Given the description of an element on the screen output the (x, y) to click on. 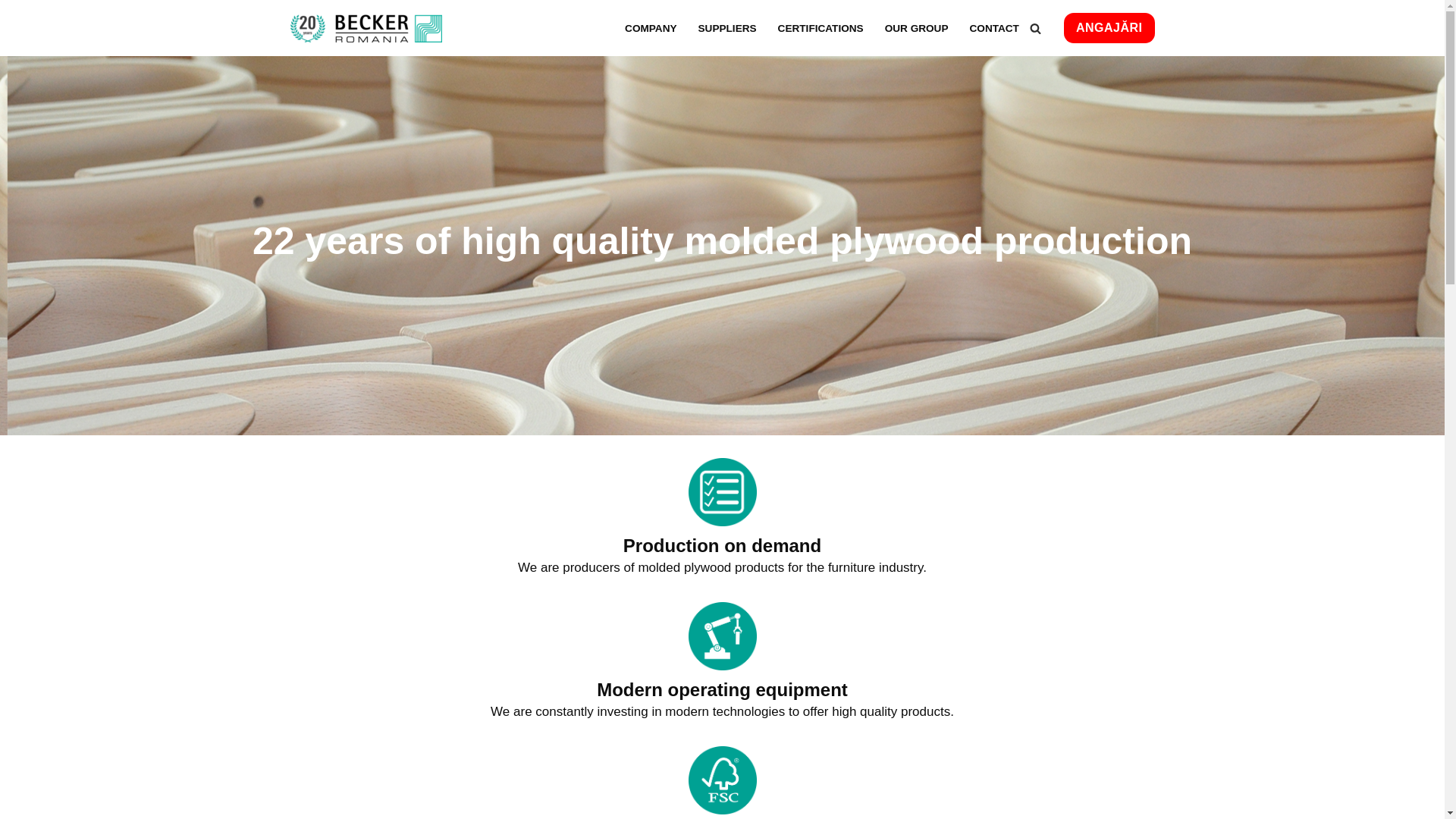
Skip to content (11, 31)
SUPPLIERS (727, 27)
CERTIFICATIONS (820, 27)
OUR GROUP (917, 27)
Becker Romania (365, 27)
COMPANY (650, 27)
CONTACT (993, 27)
